Given the description of an element on the screen output the (x, y) to click on. 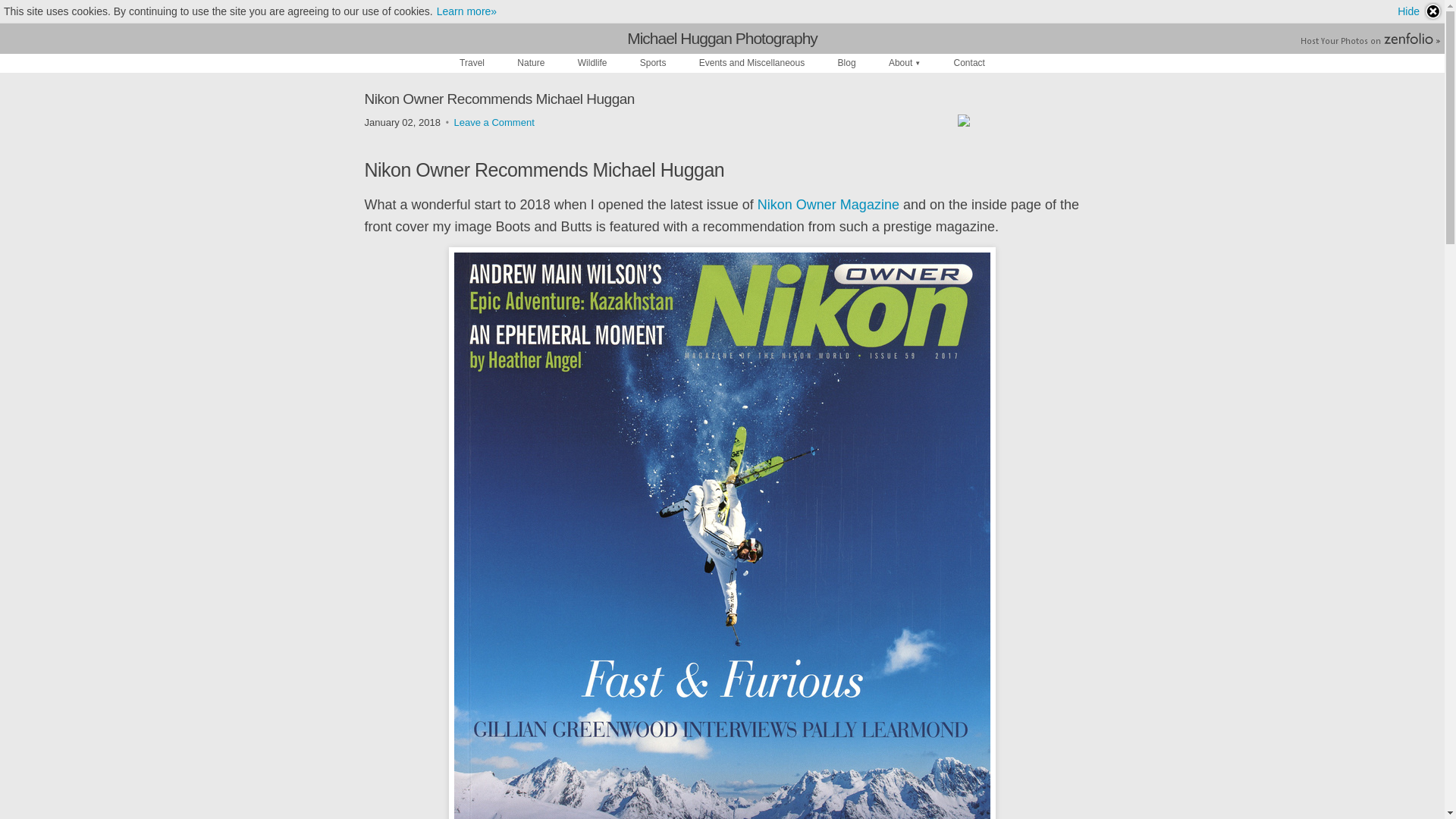
Nature (530, 62)
Michael Huggan Photography (722, 38)
Contact (969, 62)
Hide (1419, 11)
Nikon Owner Magazine (828, 204)
Sports (652, 62)
Wildlife (592, 62)
Events and Miscellaneous (751, 62)
Leave a Comment (494, 122)
Michael Huggan Photography (722, 38)
Travel (471, 62)
Blog (846, 62)
